Given the description of an element on the screen output the (x, y) to click on. 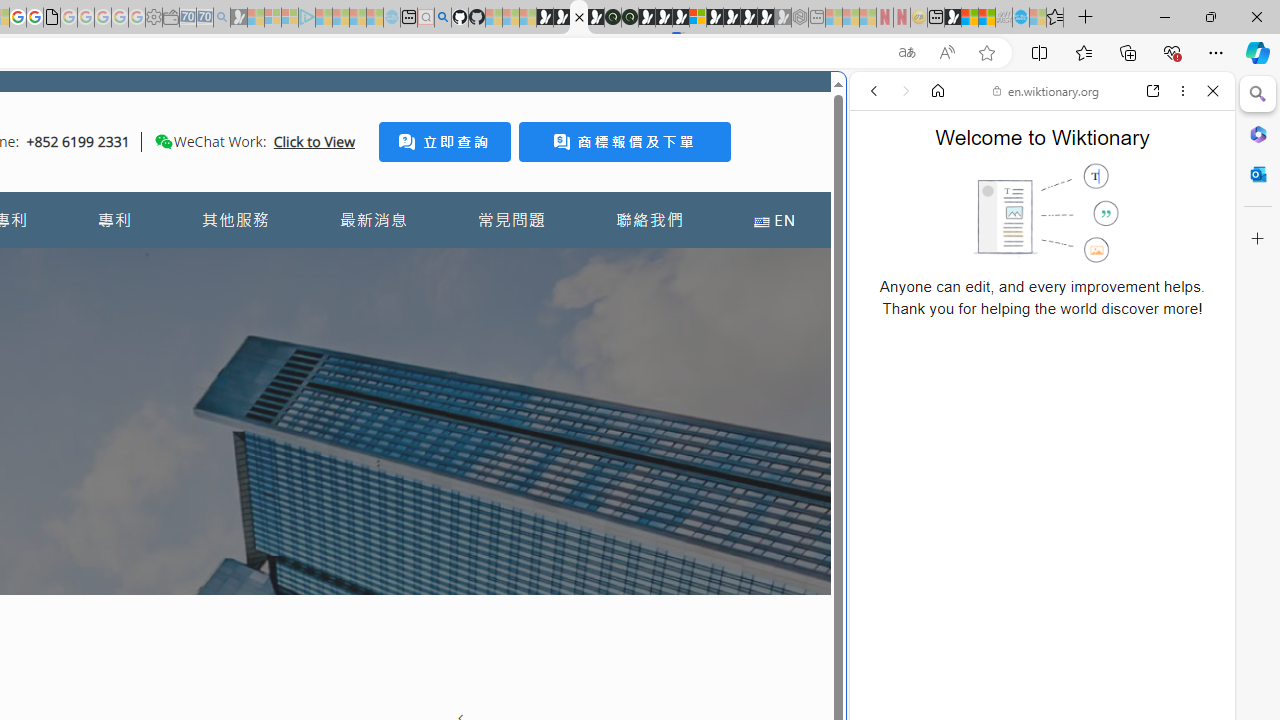
en.wiktionary.org (1046, 90)
Wiktionary (1034, 669)
